Given the description of an element on the screen output the (x, y) to click on. 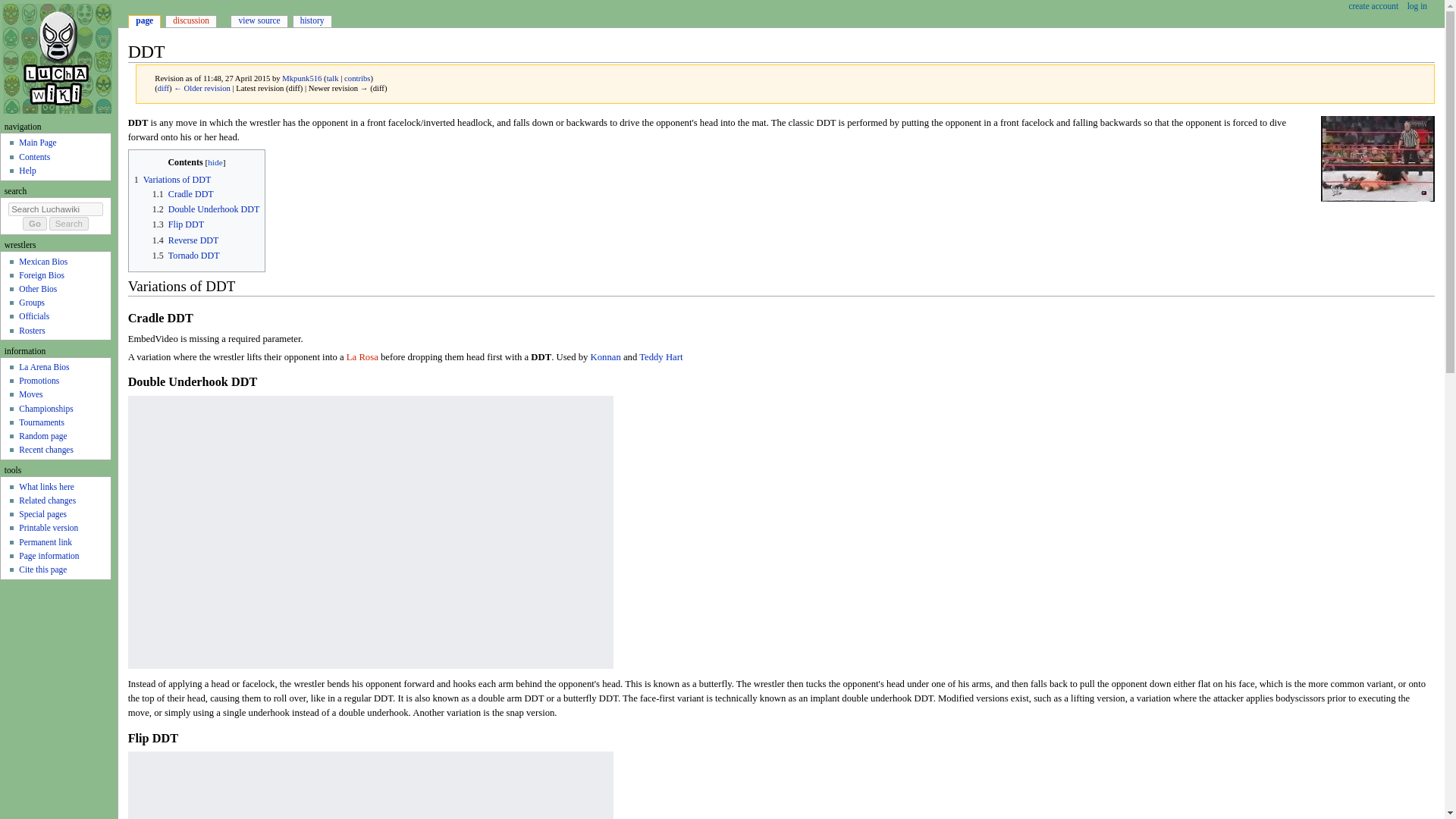
Konnan (606, 357)
contribs (356, 78)
DDT (201, 88)
1 Variations of DDT (172, 179)
Search (68, 223)
Teddy Hart (660, 357)
Search (68, 223)
1.2 Double Underhook DDT (206, 208)
diff (162, 88)
1.1 Cradle DDT (183, 194)
DDT (541, 357)
talk (332, 78)
1.5 Tornado DDT (185, 255)
User talk:Mkpunk516 (332, 78)
